Given the description of an element on the screen output the (x, y) to click on. 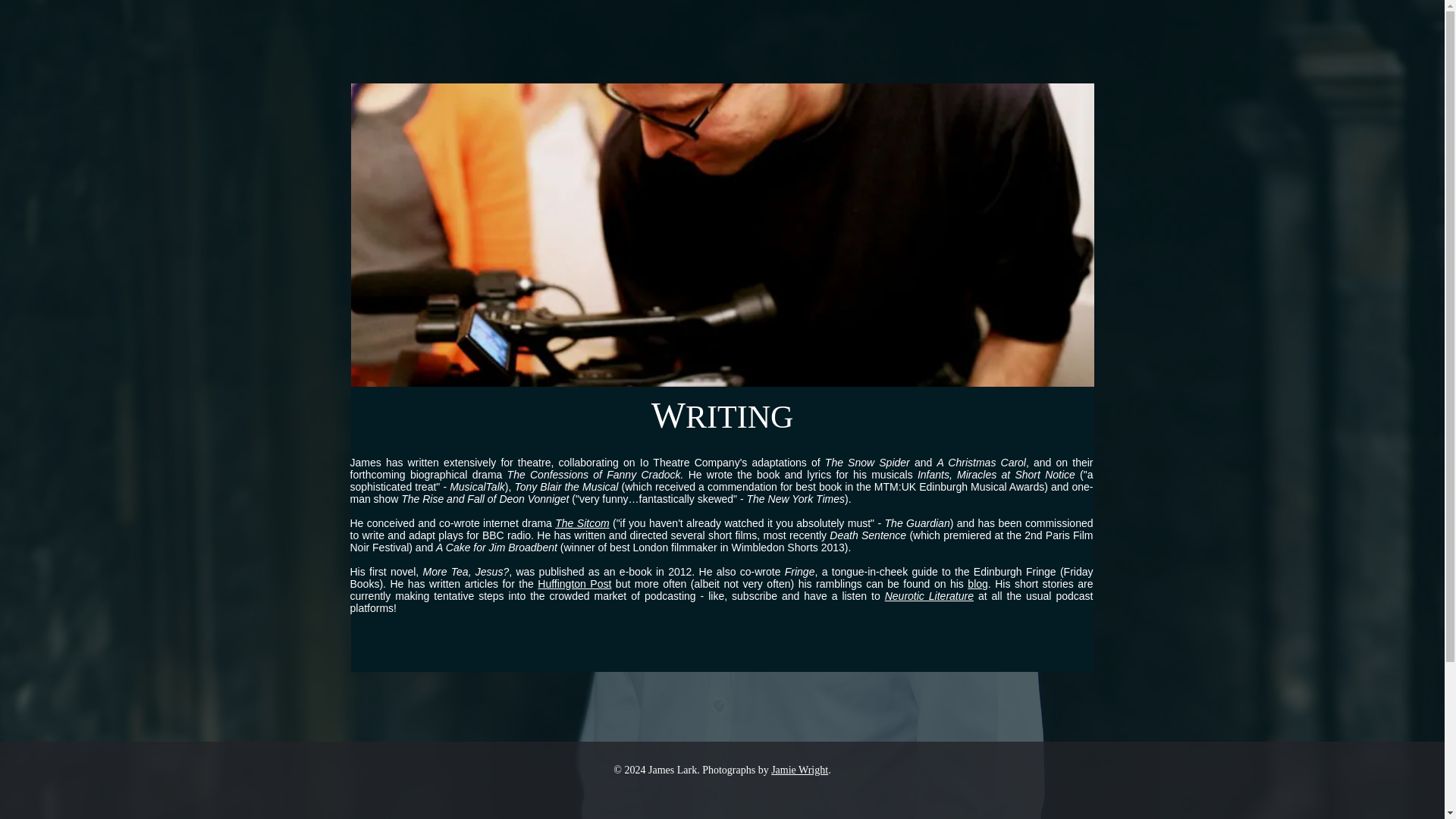
Jamie Wright (799, 769)
The Sitcom (581, 522)
Huffington Post (574, 583)
blog (977, 583)
Neurotic Literature (929, 595)
